Given the description of an element on the screen output the (x, y) to click on. 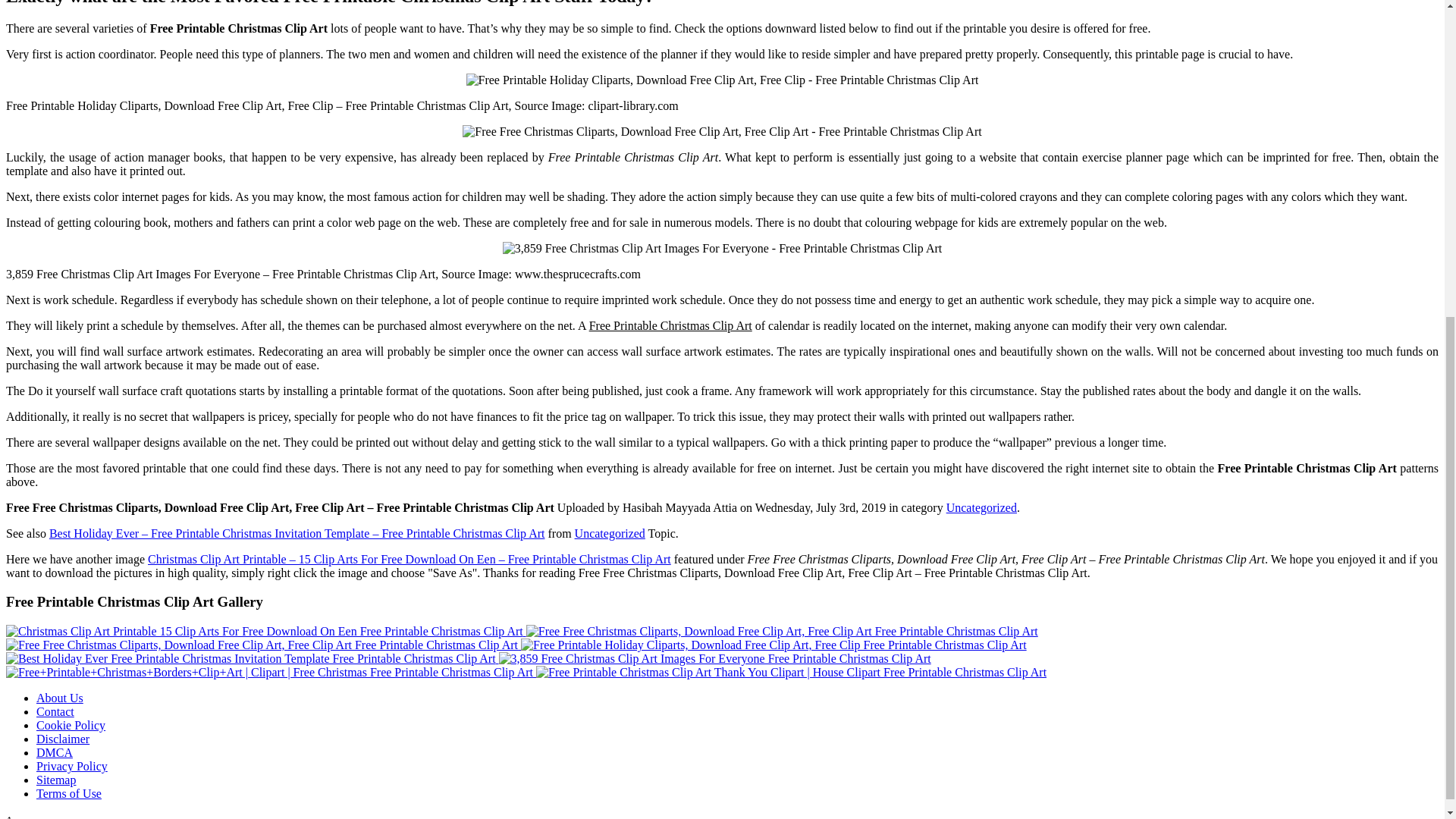
DMCA (54, 752)
Disclaimer (62, 738)
About Us (59, 697)
Sitemap (55, 779)
Privacy Policy (71, 766)
Uncategorized (610, 533)
